Given the description of an element on the screen output the (x, y) to click on. 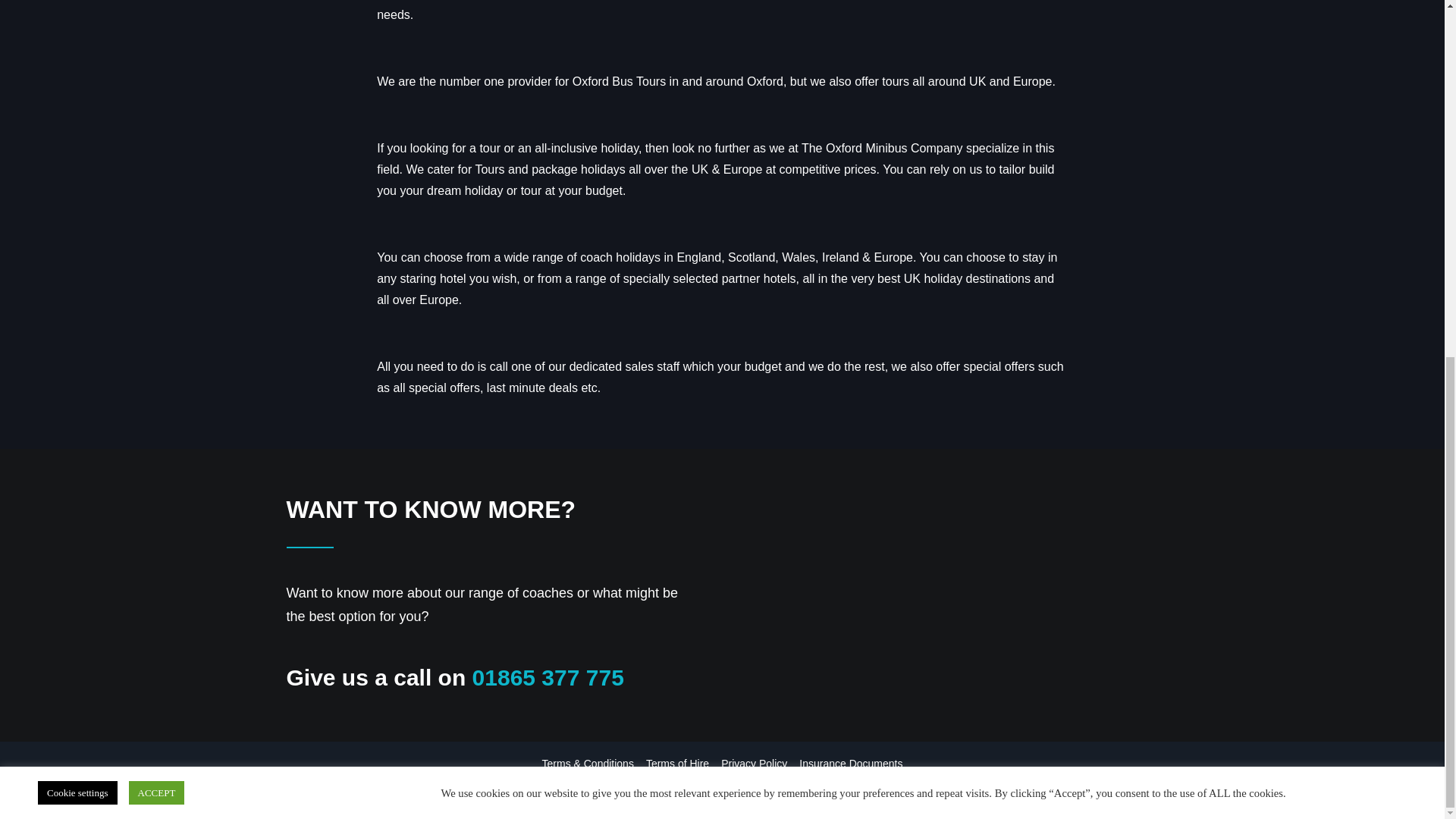
Privacy Policy (753, 763)
Terms of Hire (677, 763)
Insurance Documents (850, 763)
